Given the description of an element on the screen output the (x, y) to click on. 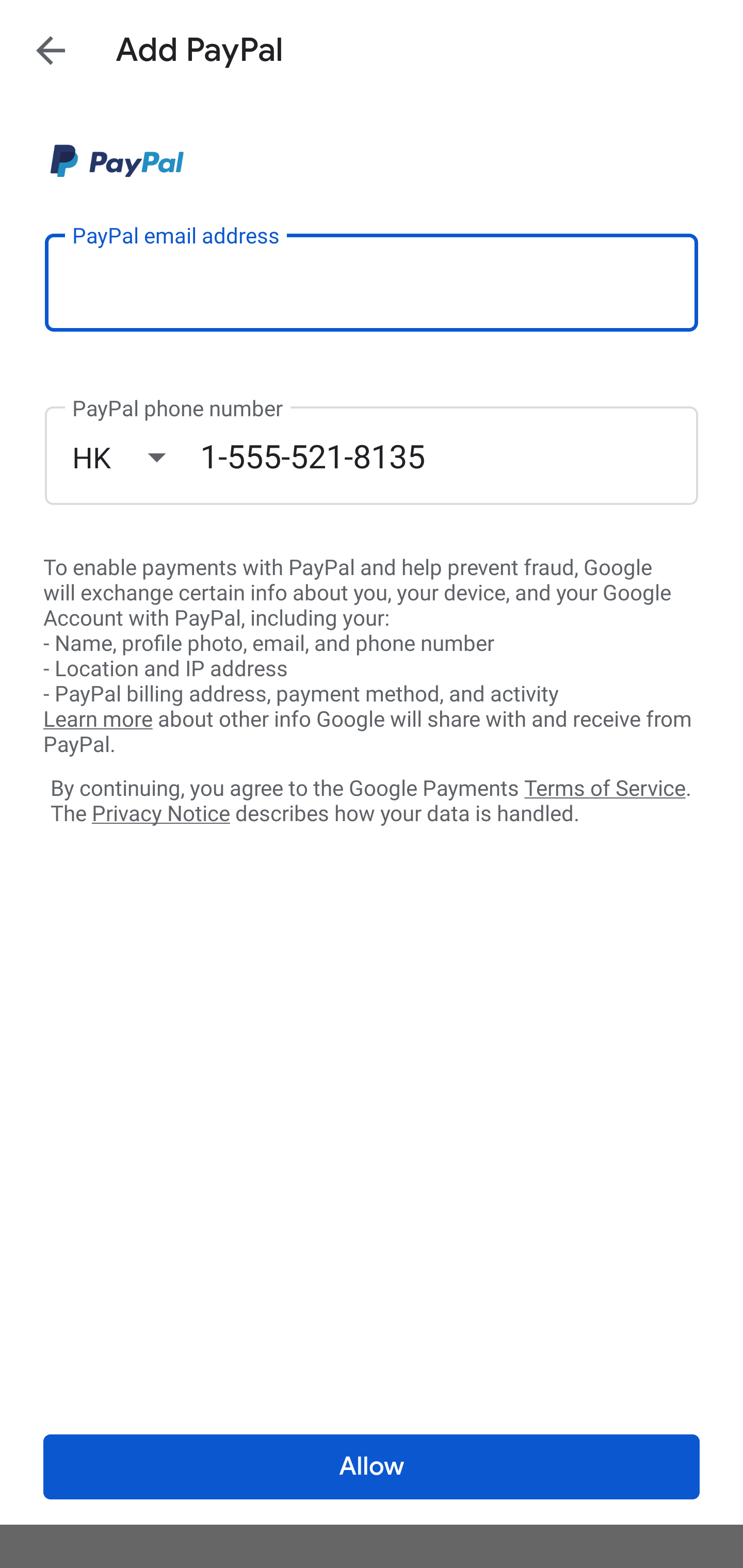
Navigate up (50, 50)
PayPal email address (371, 282)
HK (135, 456)
Learn more (97, 719)
Terms of Service (604, 787)
Privacy Notice (160, 814)
Allow (371, 1466)
